Given the description of an element on the screen output the (x, y) to click on. 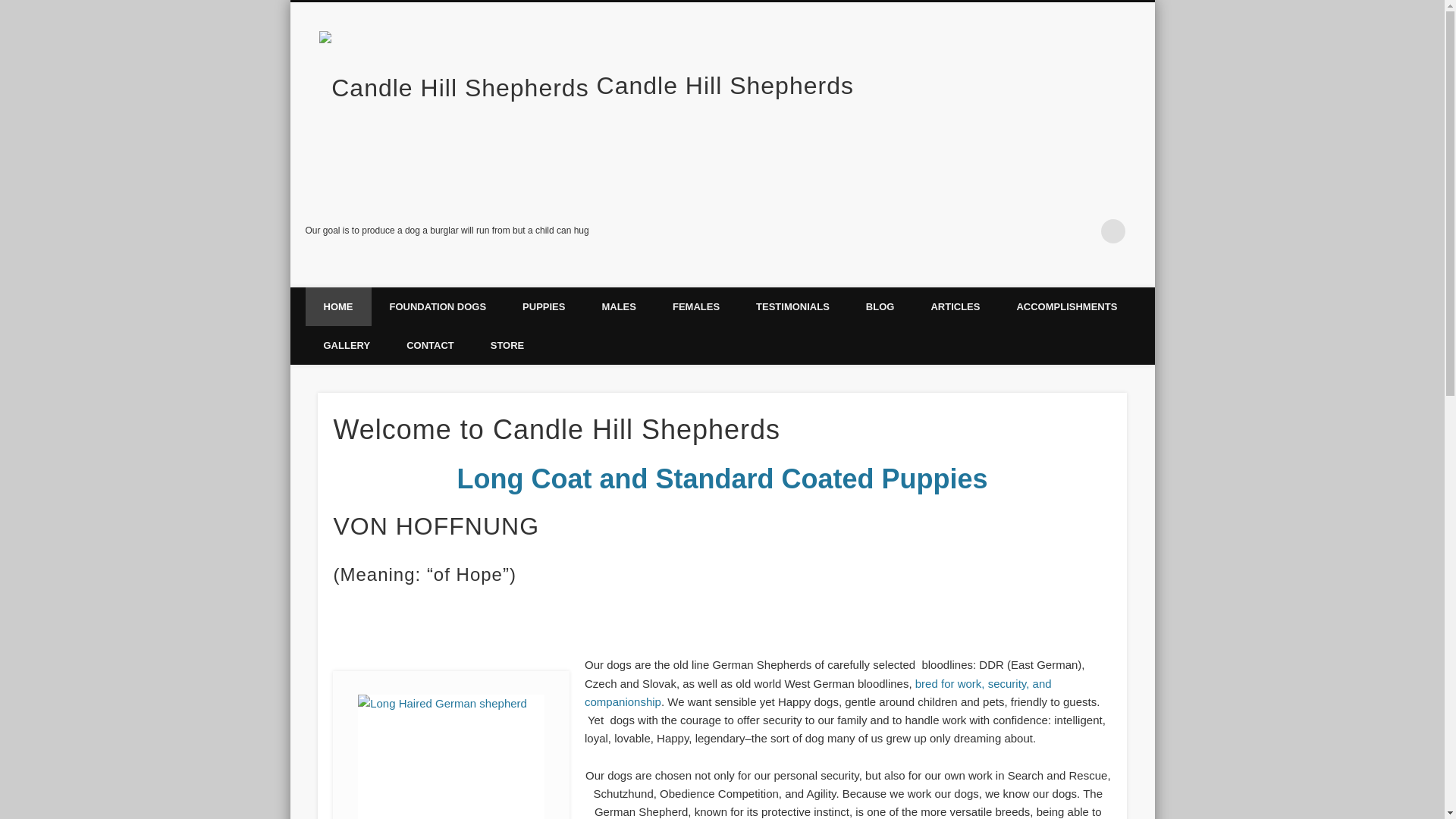
TESTIMONIALS (792, 306)
PUPPIES (543, 306)
ACCOMPLISHMENTS (1066, 306)
BLOG (879, 306)
STORE (507, 344)
FEMALES (695, 306)
Vimeo (1082, 231)
FOUNDATION DOGS (438, 306)
GALLERY (346, 344)
MALES (618, 306)
Candle Hill Shepherds (724, 85)
CONTACT (429, 344)
Long Coat and Standard Coated Puppies (722, 478)
ARTICLES (954, 306)
Facebook (1050, 231)
